Given the description of an element on the screen output the (x, y) to click on. 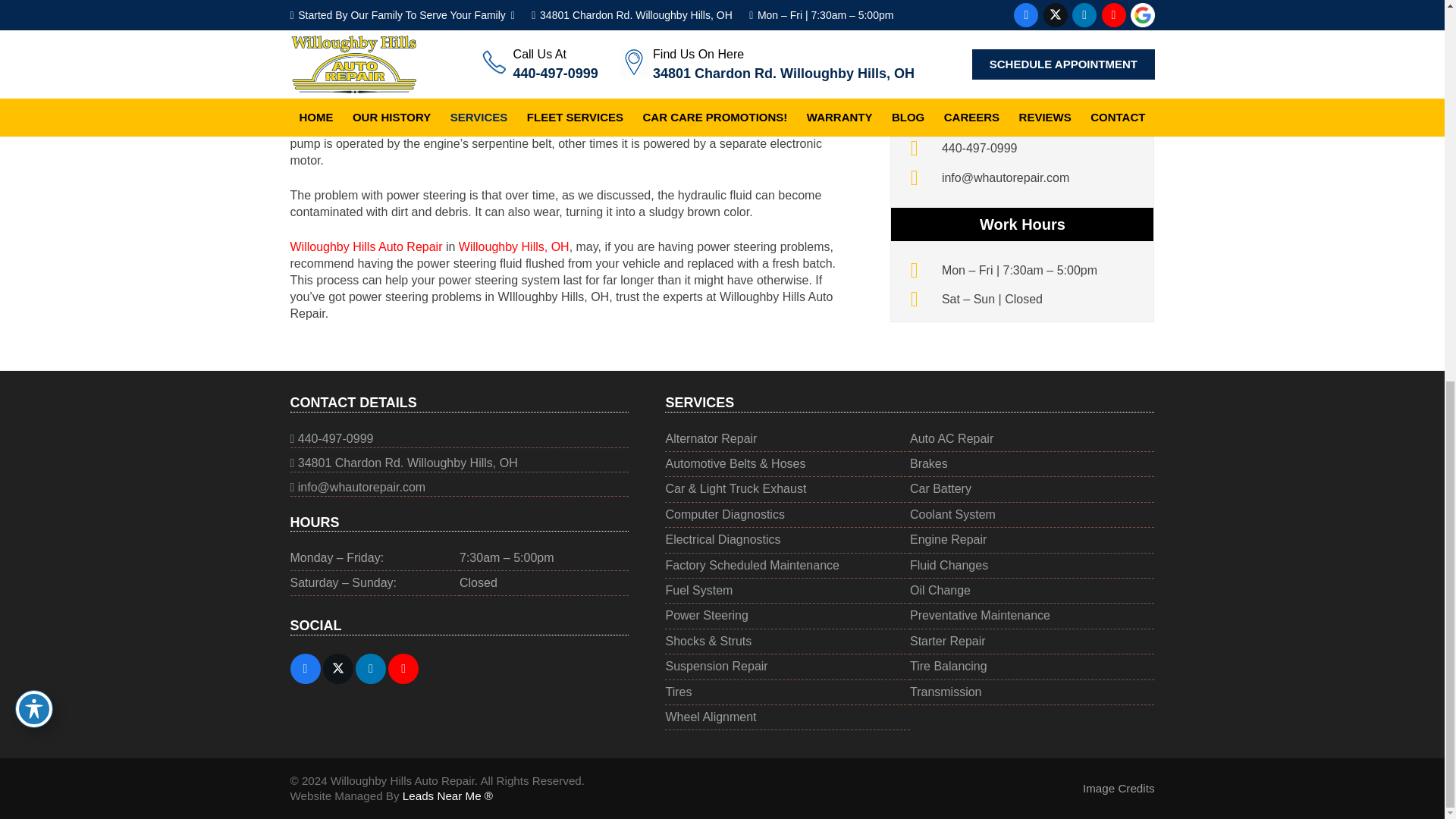
LinkedIn (370, 668)
Twitter (338, 668)
Back to top (30, 134)
YouTube (403, 668)
Facebook (304, 668)
